Given the description of an element on the screen output the (x, y) to click on. 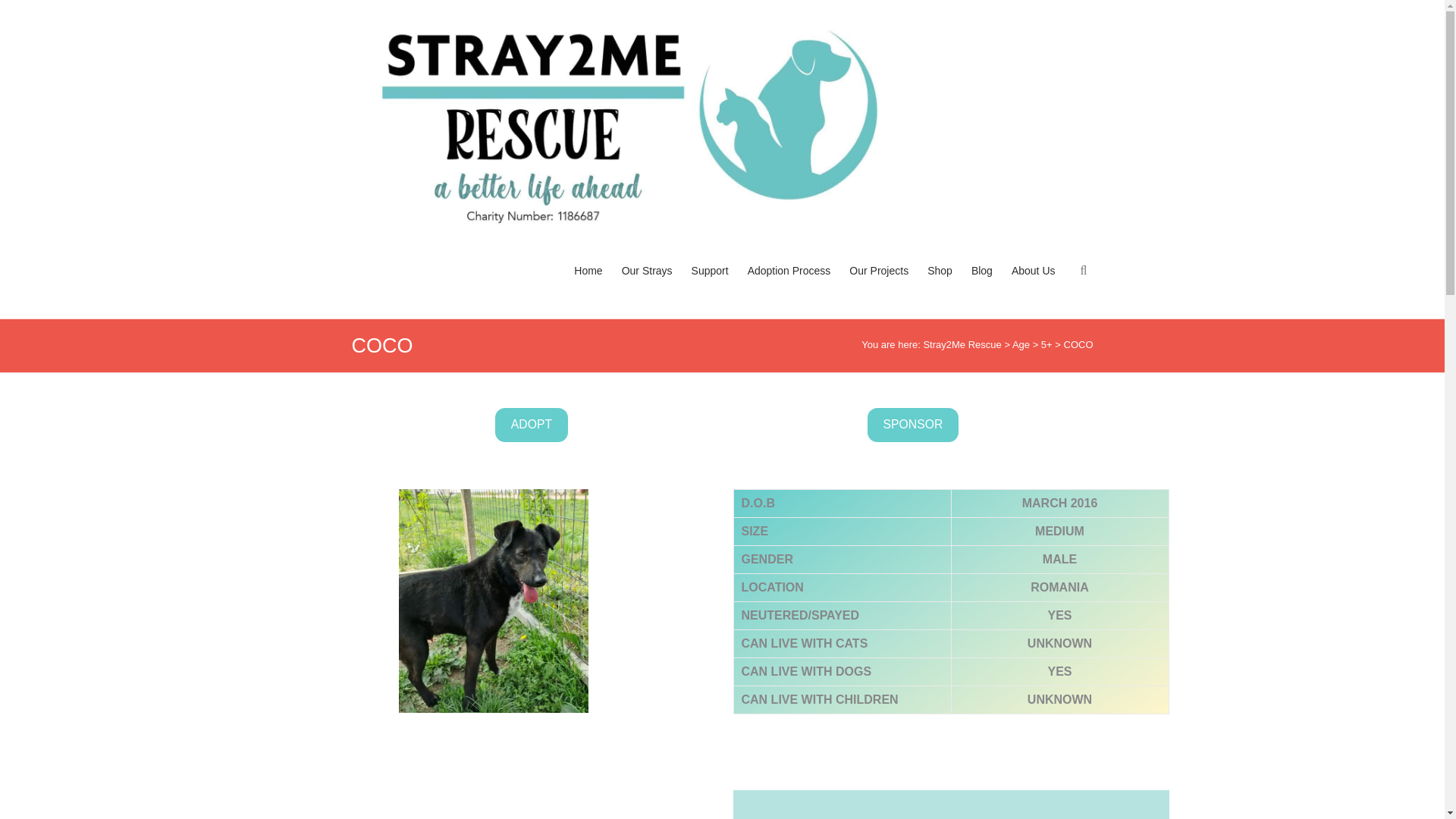
Adoption Process (789, 284)
Go to the Age Category archives. (1020, 344)
Go to Stray2Me Rescue. (962, 344)
